Given the description of an element on the screen output the (x, y) to click on. 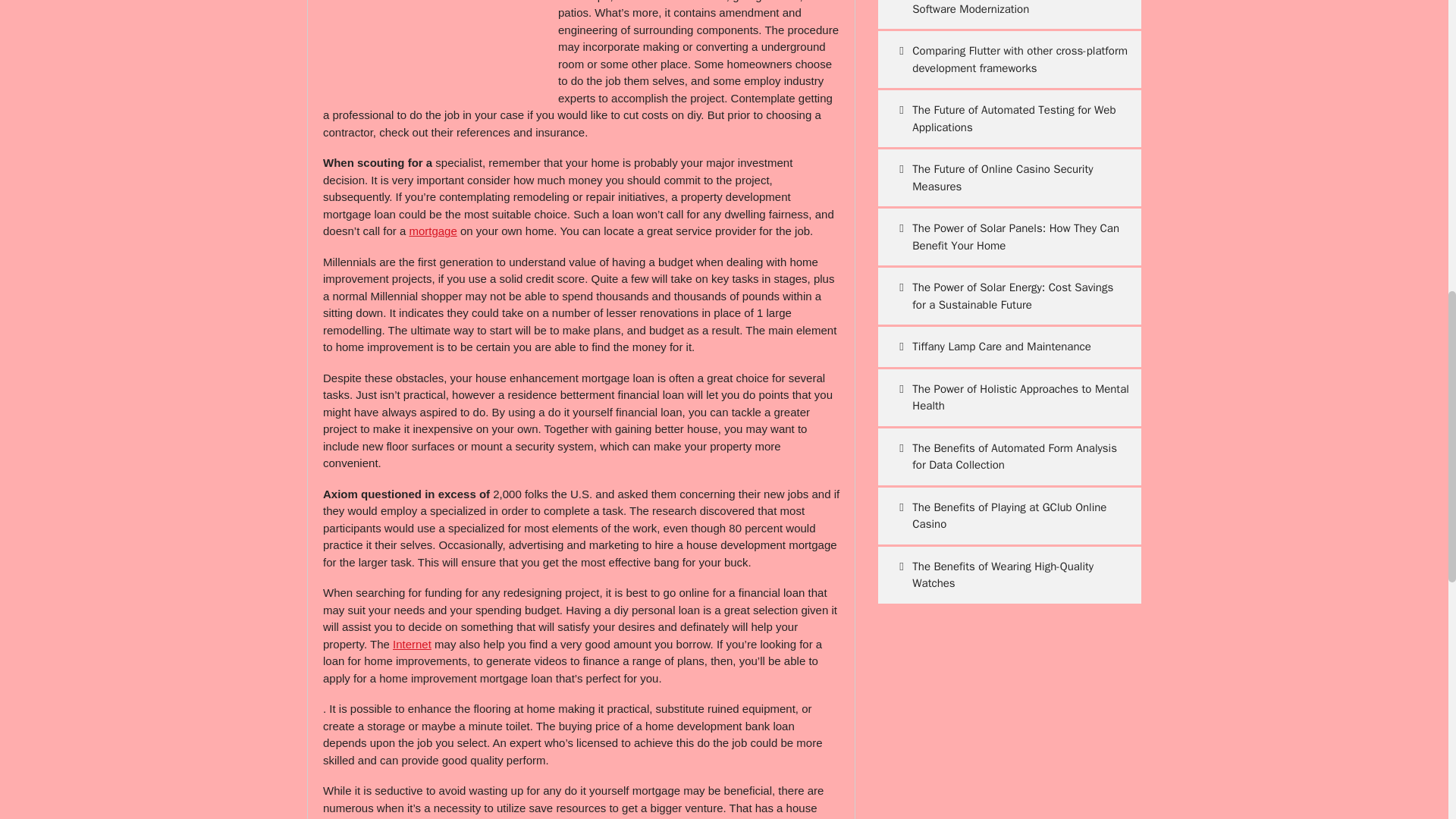
The Benefits of Automated Form Analysis for Data Collection (1009, 456)
Internet (411, 644)
The Power of Solar Panels: How They Can Benefit Your Home (1009, 236)
The Power of Holistic Approaches to Mental Health (1009, 397)
Tiffany Lamp Care and Maintenance (1009, 346)
The Future of Automated Testing for Web Applications (1009, 118)
The Future of Online Casino Security Measures (1009, 177)
